Given the description of an element on the screen output the (x, y) to click on. 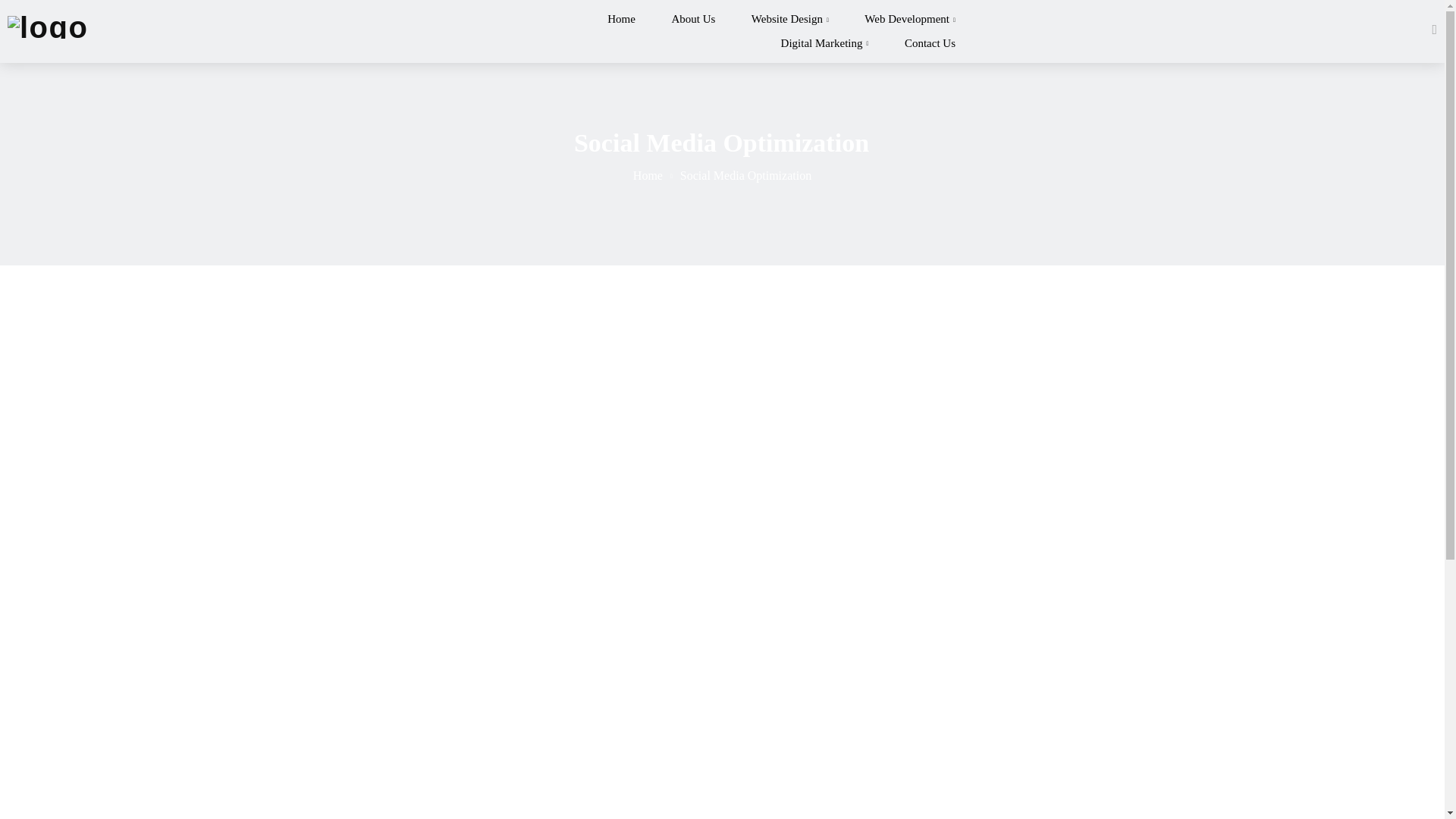
Home (647, 174)
Digital Marketing (824, 42)
Contact Us (929, 42)
Web Development (909, 22)
Website Design (789, 22)
About Us (692, 22)
